Given the description of an element on the screen output the (x, y) to click on. 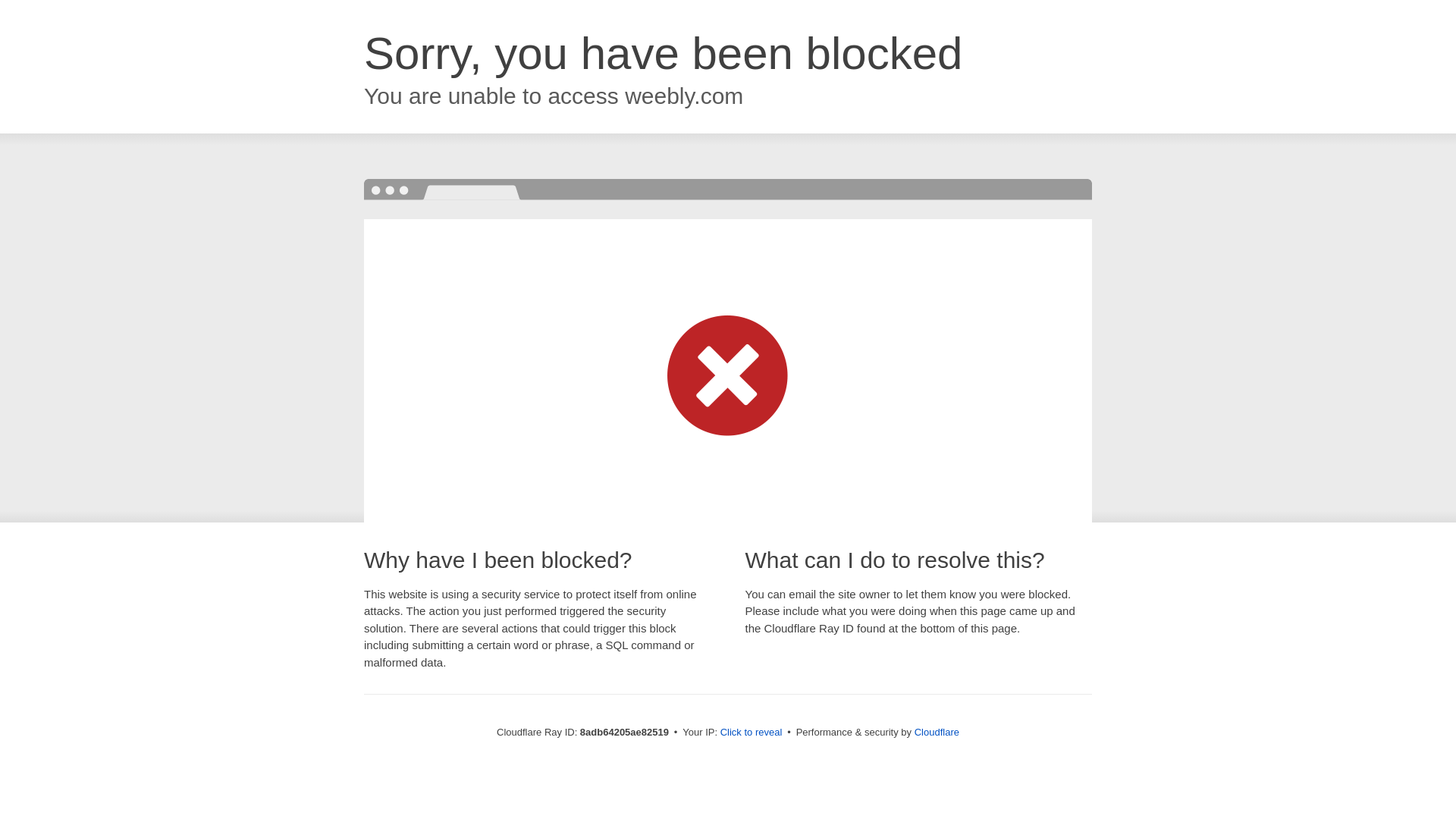
Cloudflare (936, 731)
Click to reveal (751, 732)
